Given the description of an element on the screen output the (x, y) to click on. 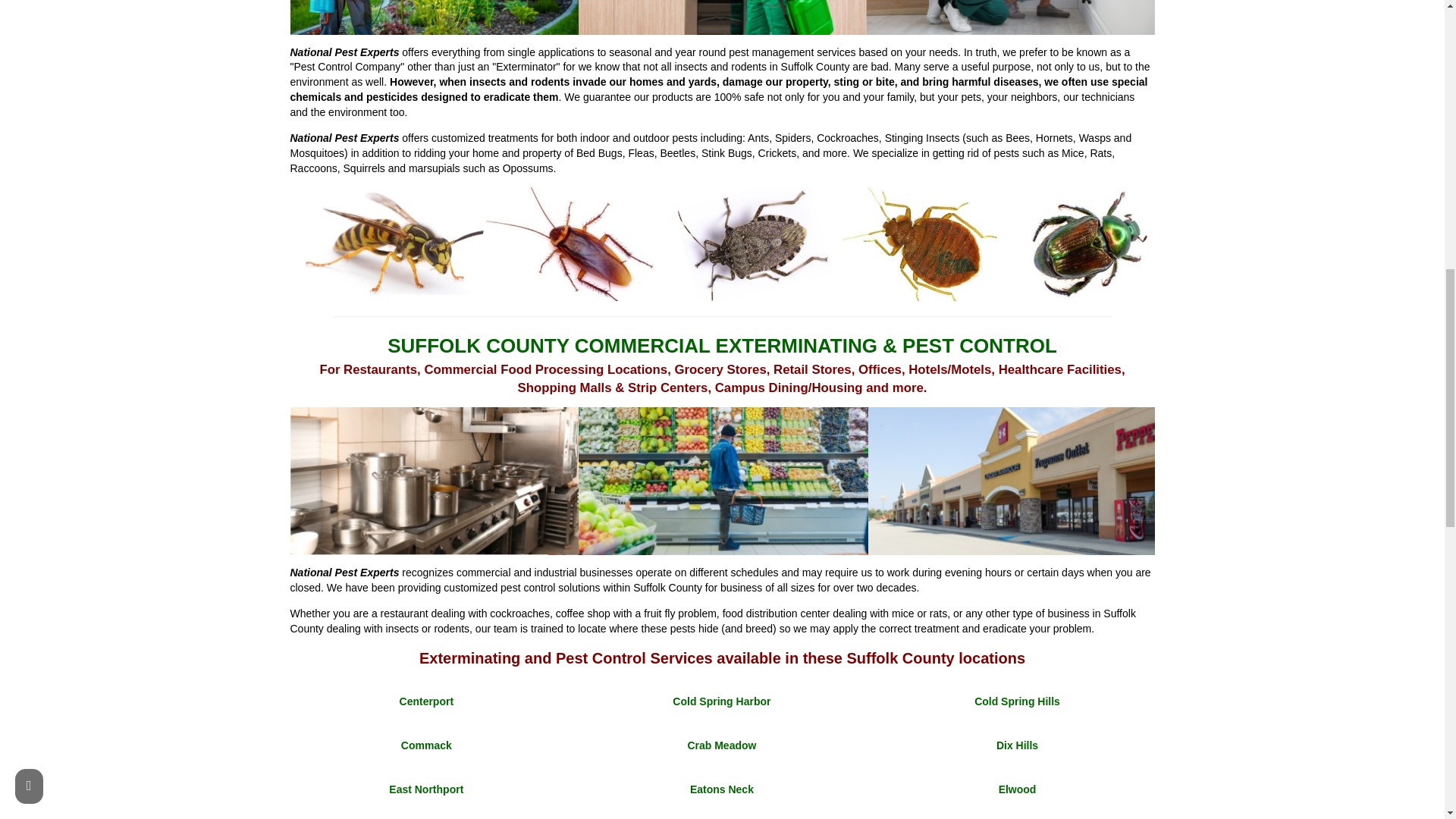
Eatons Neck Exterminating and Pest Control (722, 788)
Crab Meadow Exterminating and Pest Control (721, 745)
Elwood Exterminating and Pest Control (1017, 788)
Cold Spring Hills Exterminating and Pest Control (1016, 701)
Centerport Exterminating and Pest Control (426, 701)
Dix Hills Exterminating and Pest Control (1016, 745)
East Northport Exterminating and Pest Control (425, 788)
Commack Exterminating and Pest Control (426, 745)
Cold Spring Harbor Exterminating and Pest Control (721, 701)
